Given the description of an element on the screen output the (x, y) to click on. 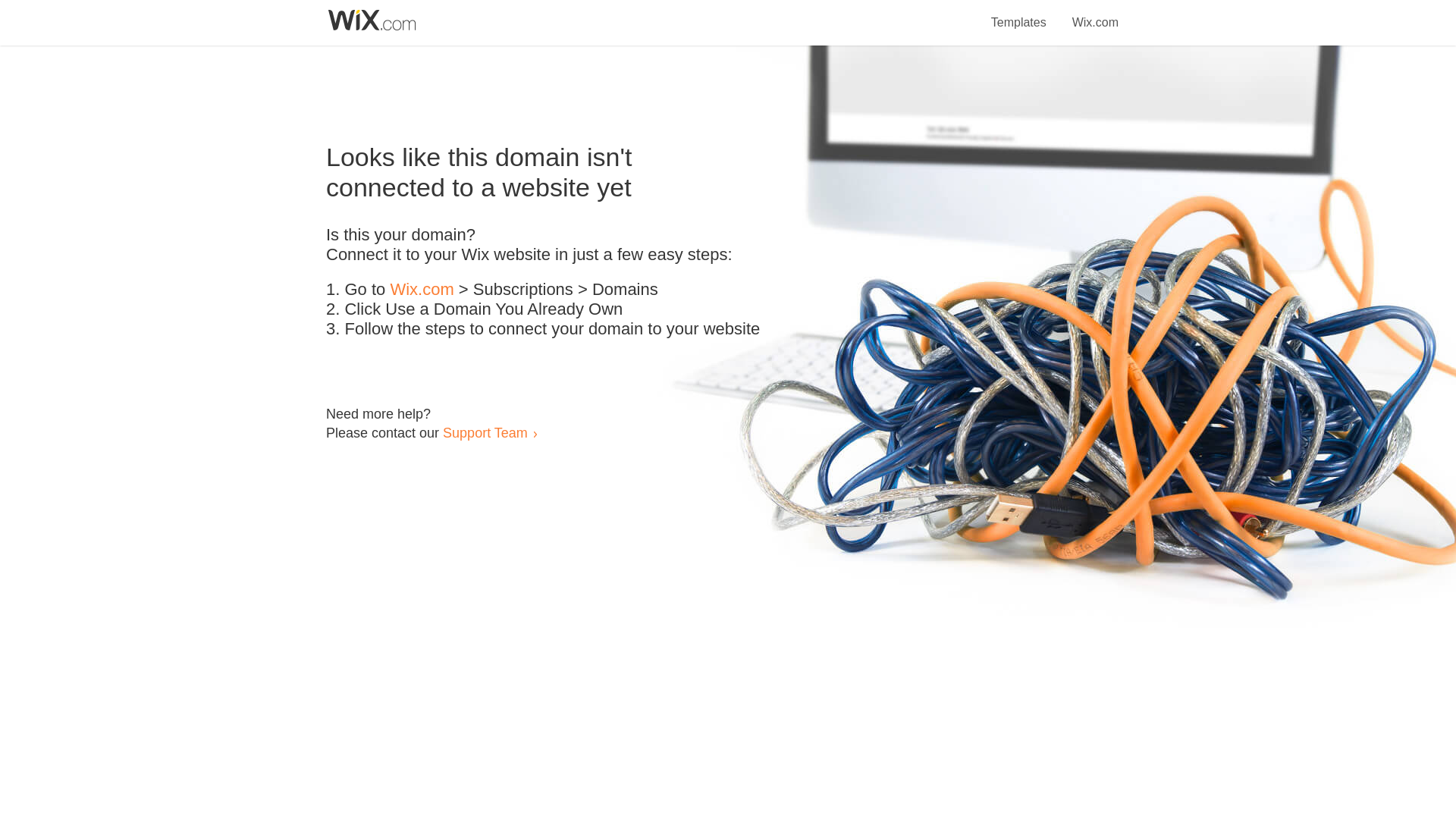
Templates (1018, 14)
Wix.com (1095, 14)
Support Team (484, 432)
Wix.com (421, 289)
